Given the description of an element on the screen output the (x, y) to click on. 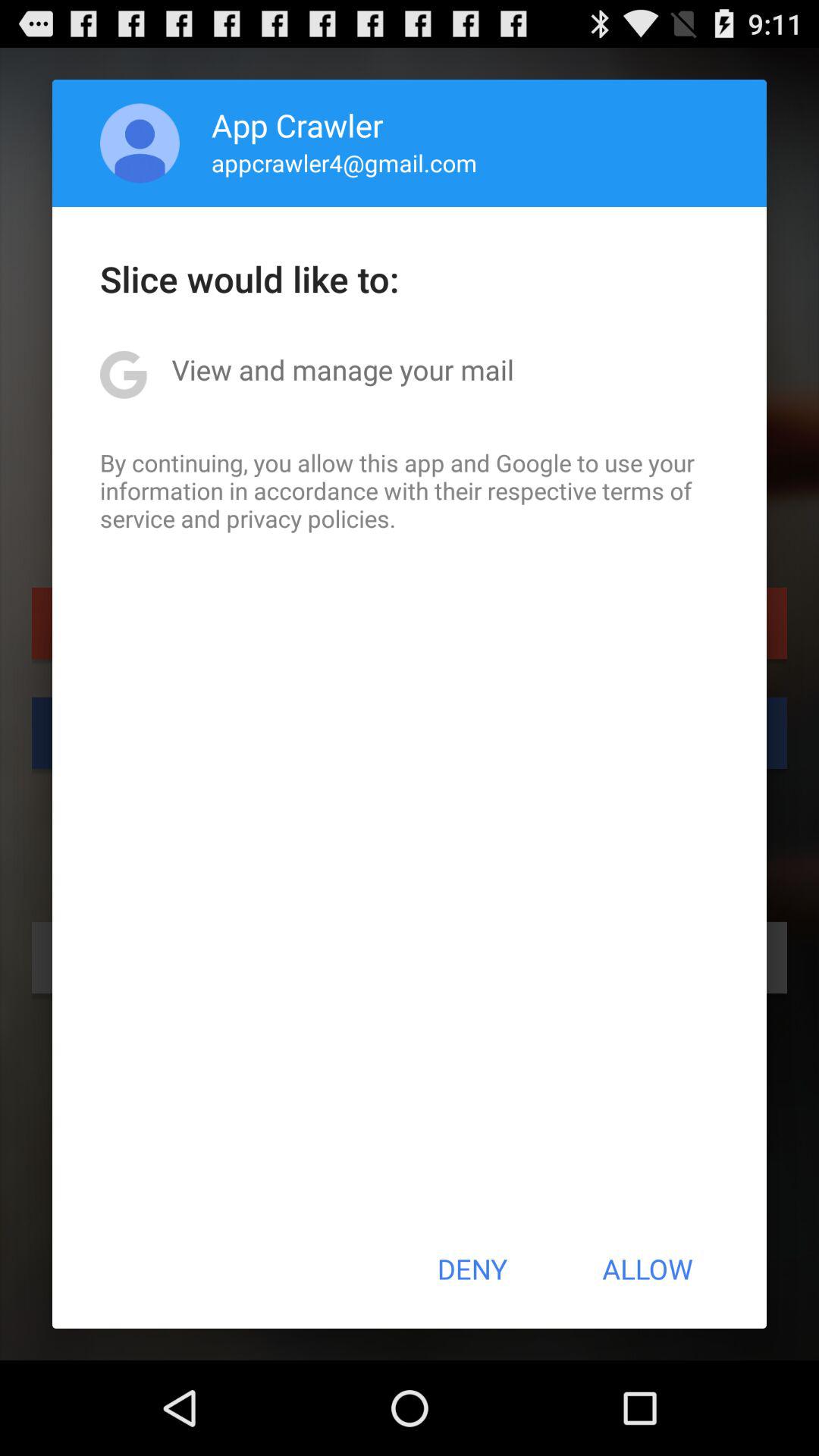
tap the icon above the by continuing you item (342, 369)
